Given the description of an element on the screen output the (x, y) to click on. 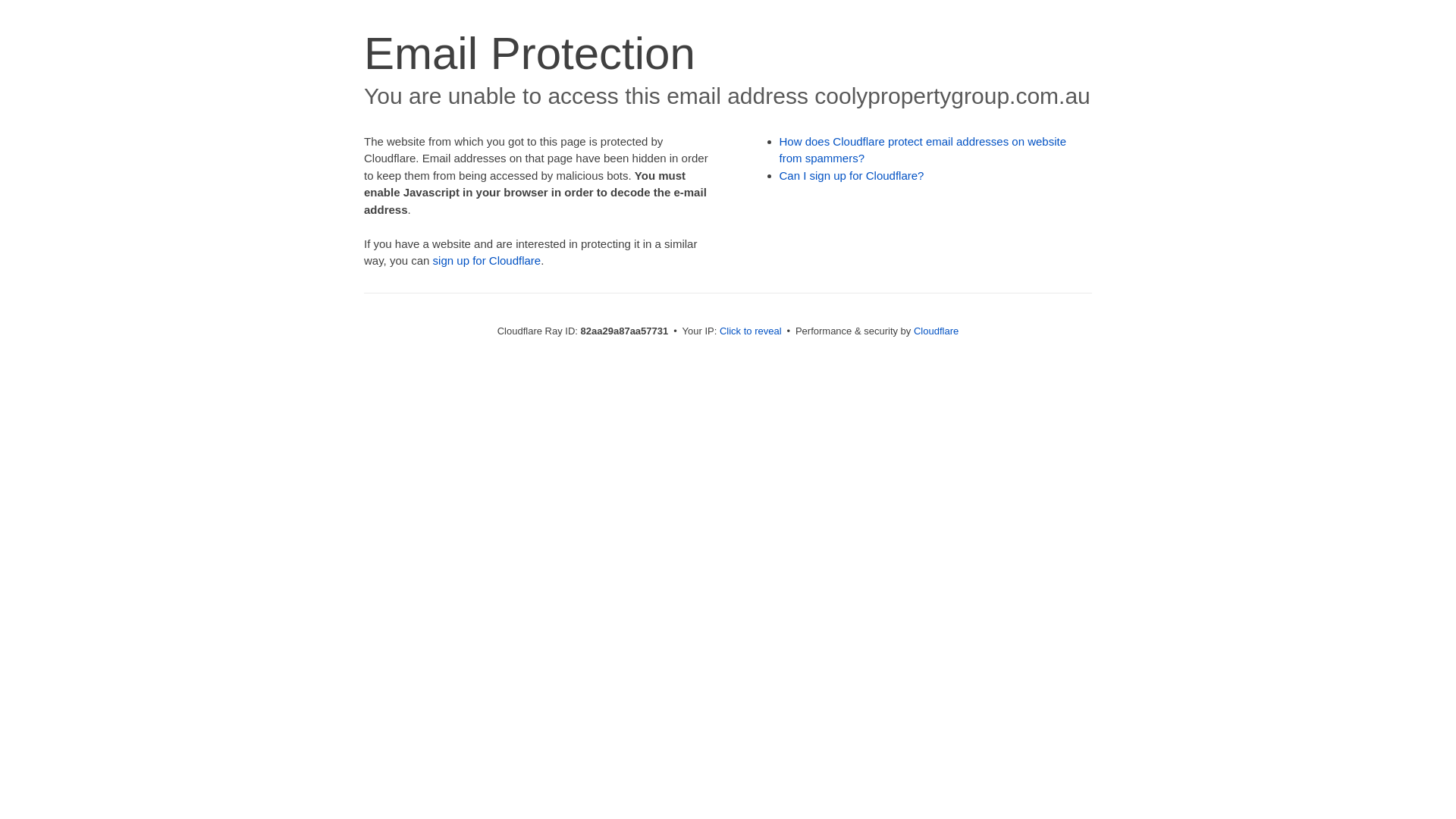
Can I sign up for Cloudflare? Element type: text (851, 175)
Click to reveal Element type: text (750, 330)
Cloudflare Element type: text (935, 330)
sign up for Cloudflare Element type: text (487, 260)
